Given the description of an element on the screen output the (x, y) to click on. 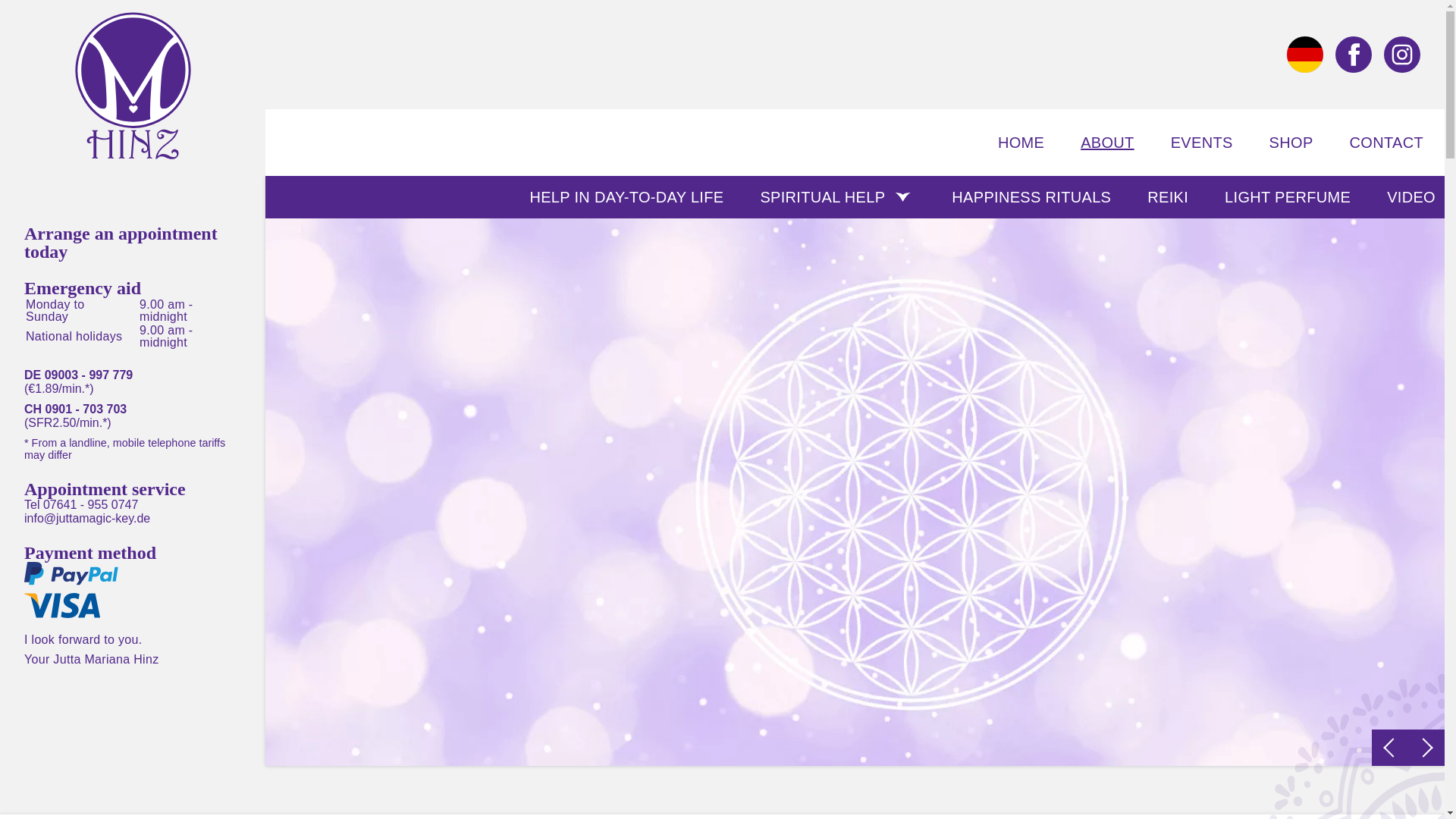
HOME (1020, 142)
LIGHT PERFUME (1287, 197)
ABOUT (1106, 142)
SPIRITUAL HELP (837, 197)
07641 - 955 0747 (90, 504)
CH 0901 - 703 703 (132, 409)
REIKI (1167, 197)
HAPPINESS RITUALS (1030, 197)
CONTACT (1386, 142)
HELP IN DAY-TO-DAY LIFE (625, 197)
DE 09003 - 997 779 (132, 375)
SHOP (1291, 142)
EVENTS (1201, 142)
